Given the description of an element on the screen output the (x, y) to click on. 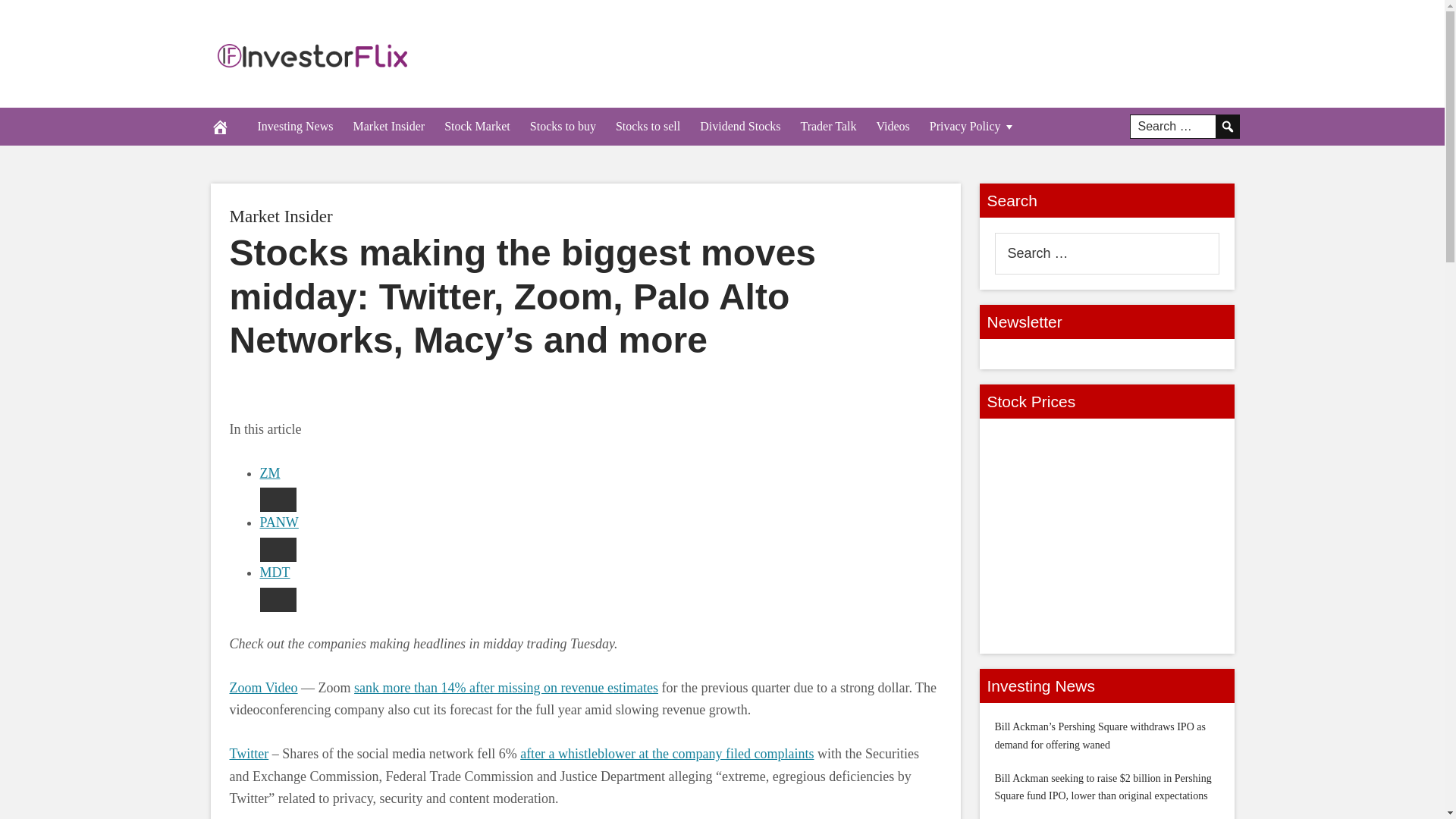
Market Insider (279, 216)
Privacy Policy (973, 126)
Videos (892, 126)
Market Insider (387, 126)
Stocks to buy (562, 126)
Investing News (294, 126)
Dividend Stocks (740, 126)
PANW (278, 522)
Stock Market (476, 126)
Stocks to sell (647, 126)
Trader Talk (828, 126)
ZM (269, 473)
Market Insider (279, 216)
